Given the description of an element on the screen output the (x, y) to click on. 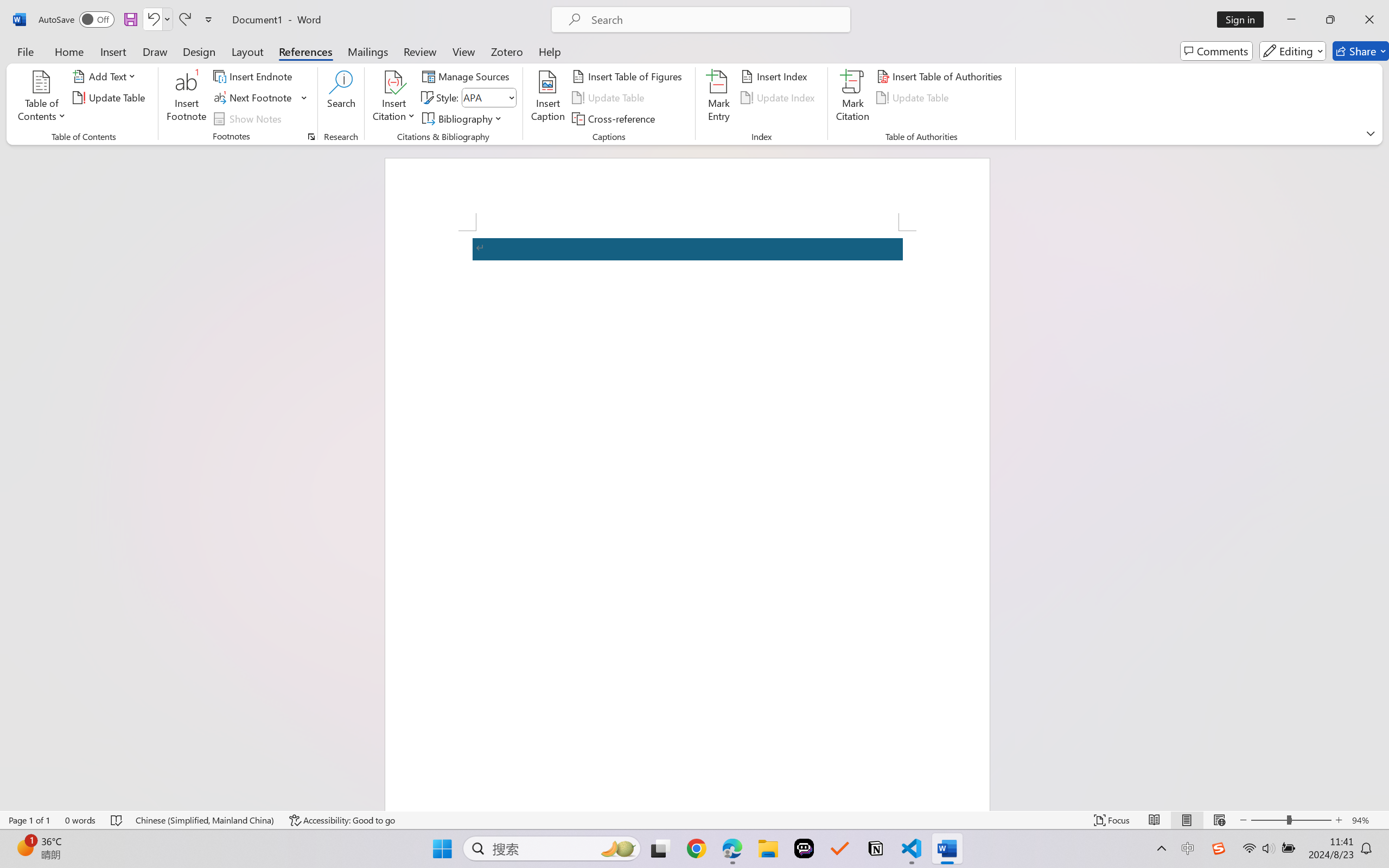
Manage Sources... (467, 75)
Bibliography (463, 118)
Style (483, 96)
Insert Citation (393, 97)
Add Text (106, 75)
Sign in (1244, 19)
